Given the description of an element on the screen output the (x, y) to click on. 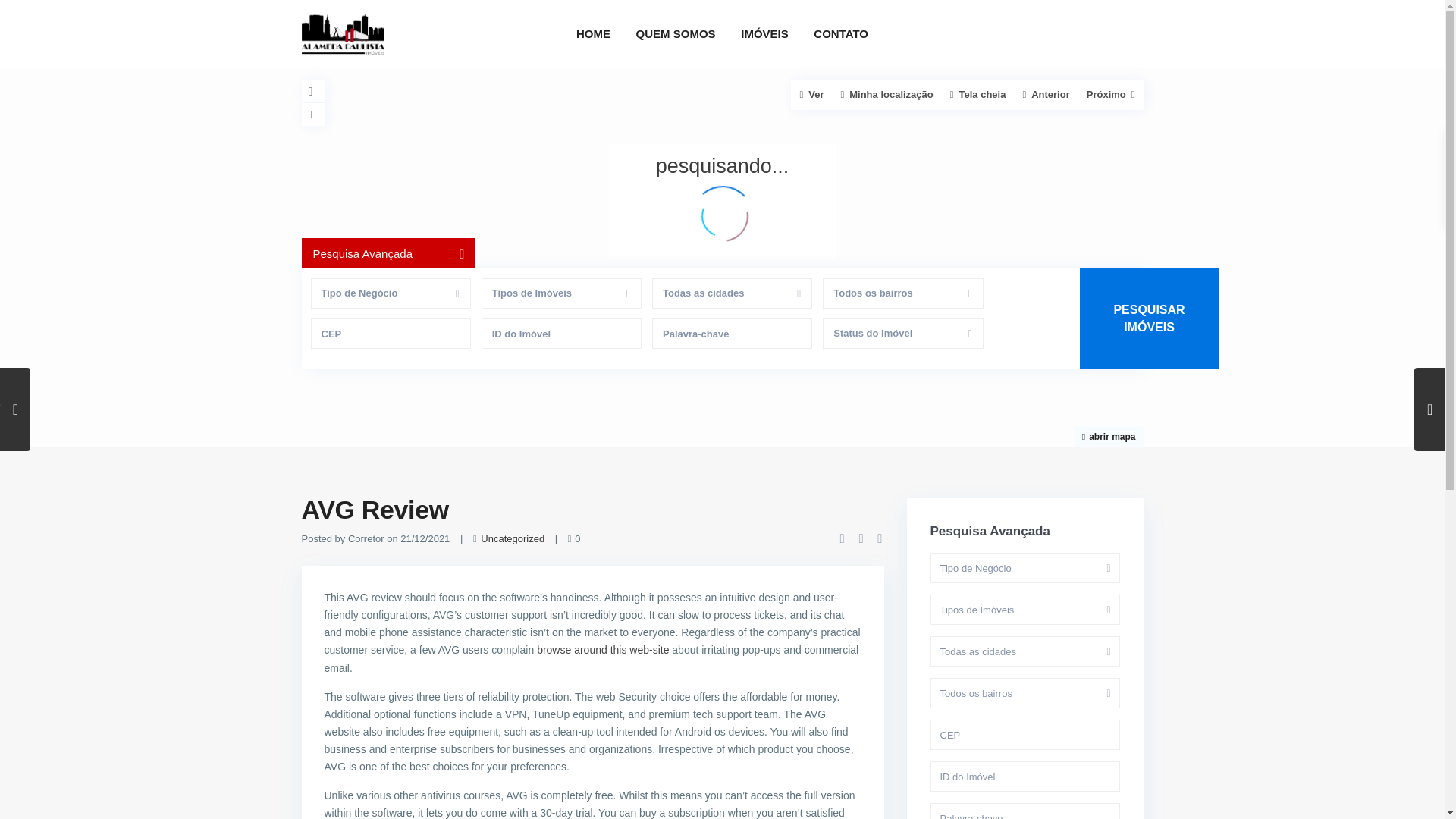
Uncategorized (512, 538)
QUEM SOMOS (675, 33)
browse around this web-site (602, 649)
CONTATO (840, 33)
